Given the description of an element on the screen output the (x, y) to click on. 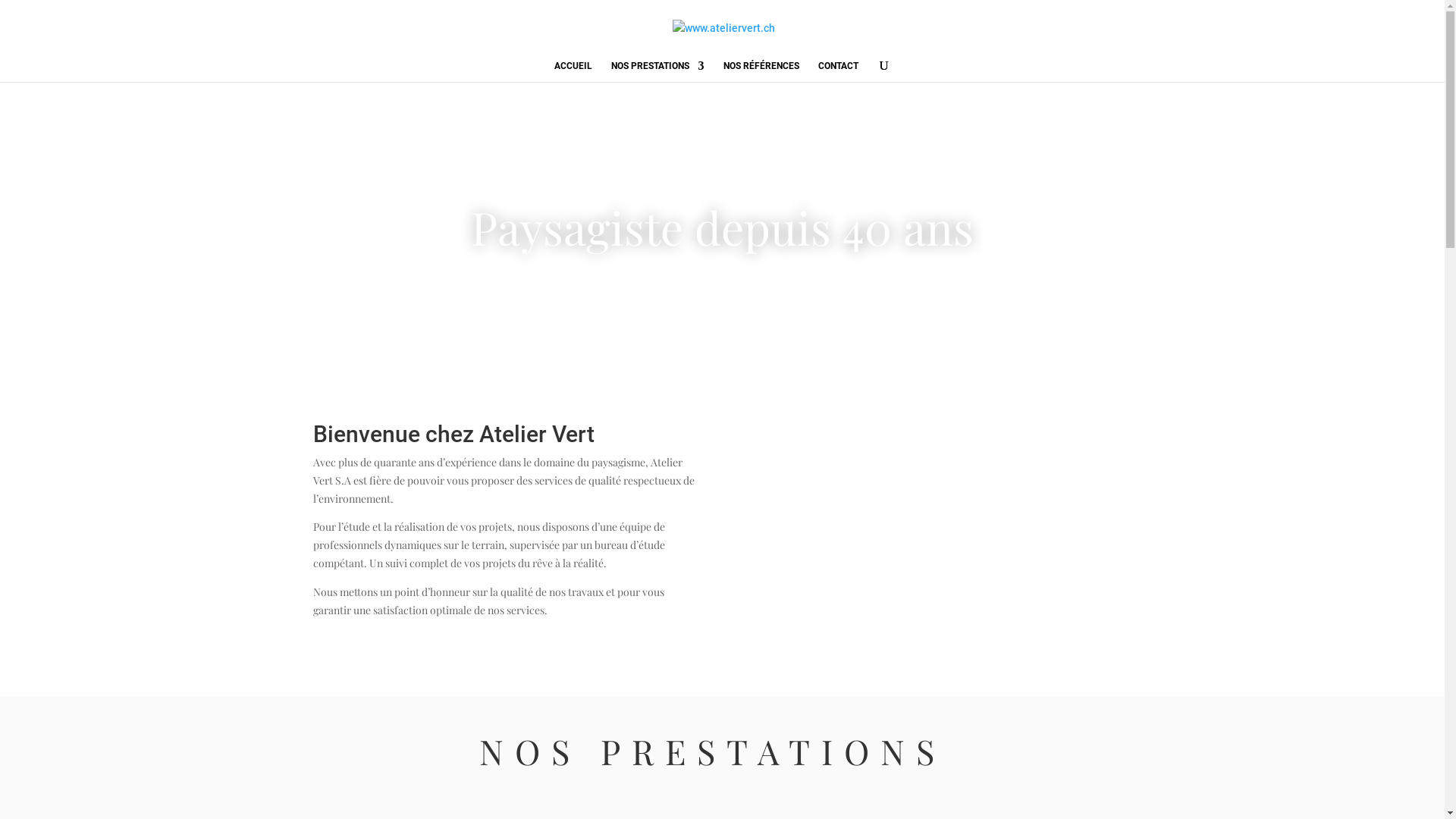
NOS PRESTATIONS Element type: text (657, 70)
ACCUEIL Element type: text (572, 70)
CONTACT Element type: text (837, 70)
